Given the description of an element on the screen output the (x, y) to click on. 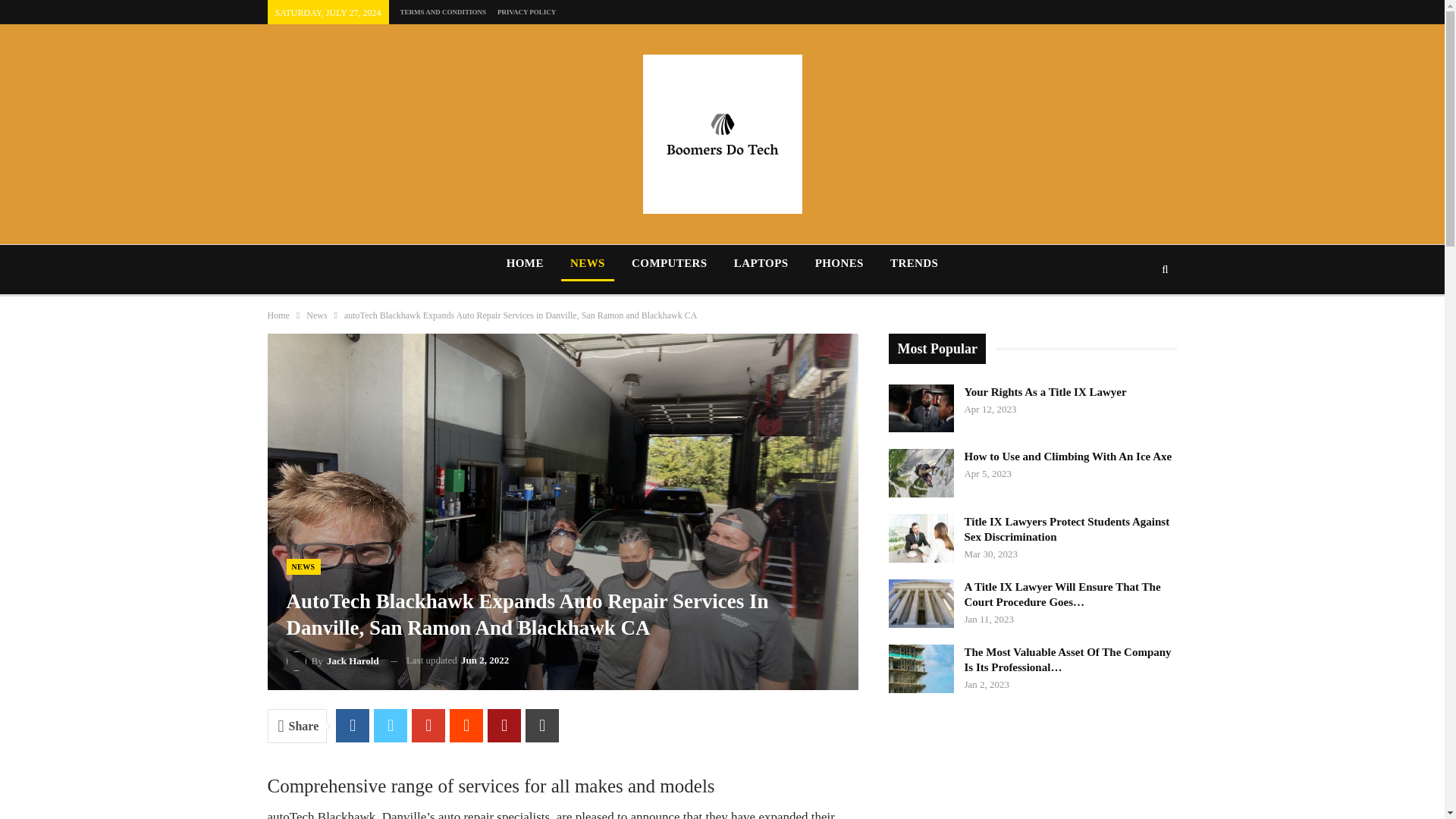
LAPTOPS (761, 262)
Browse Author Articles (332, 660)
PHONES (839, 262)
HOME (525, 262)
PRIVACY POLICY (526, 11)
COMPUTERS (669, 262)
TRENDS (913, 262)
Home (277, 315)
NEWS (587, 262)
NEWS (303, 566)
News (315, 315)
TERMS AND CONDITIONS (443, 11)
By Jack Harold (332, 660)
